Given the description of an element on the screen output the (x, y) to click on. 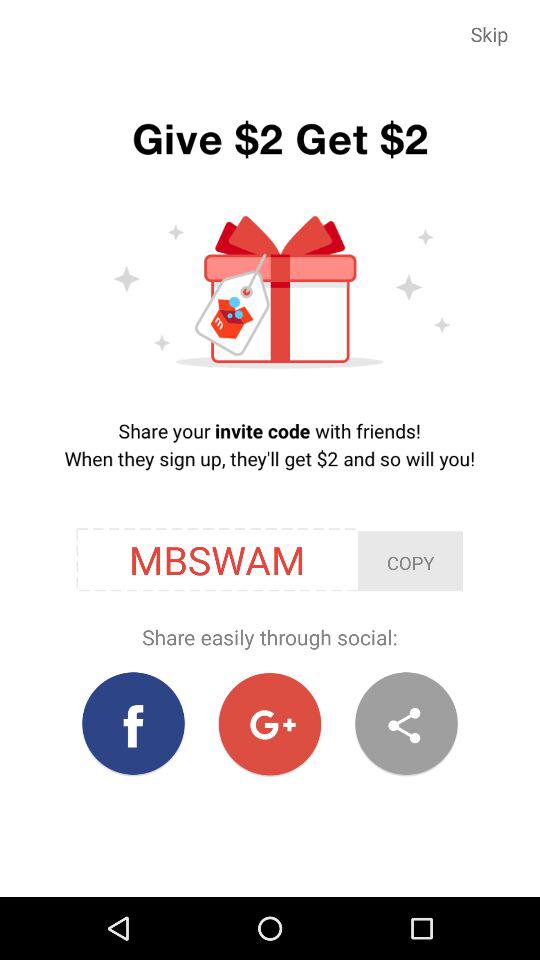
choose the icon at the bottom left corner (133, 724)
